Given the description of an element on the screen output the (x, y) to click on. 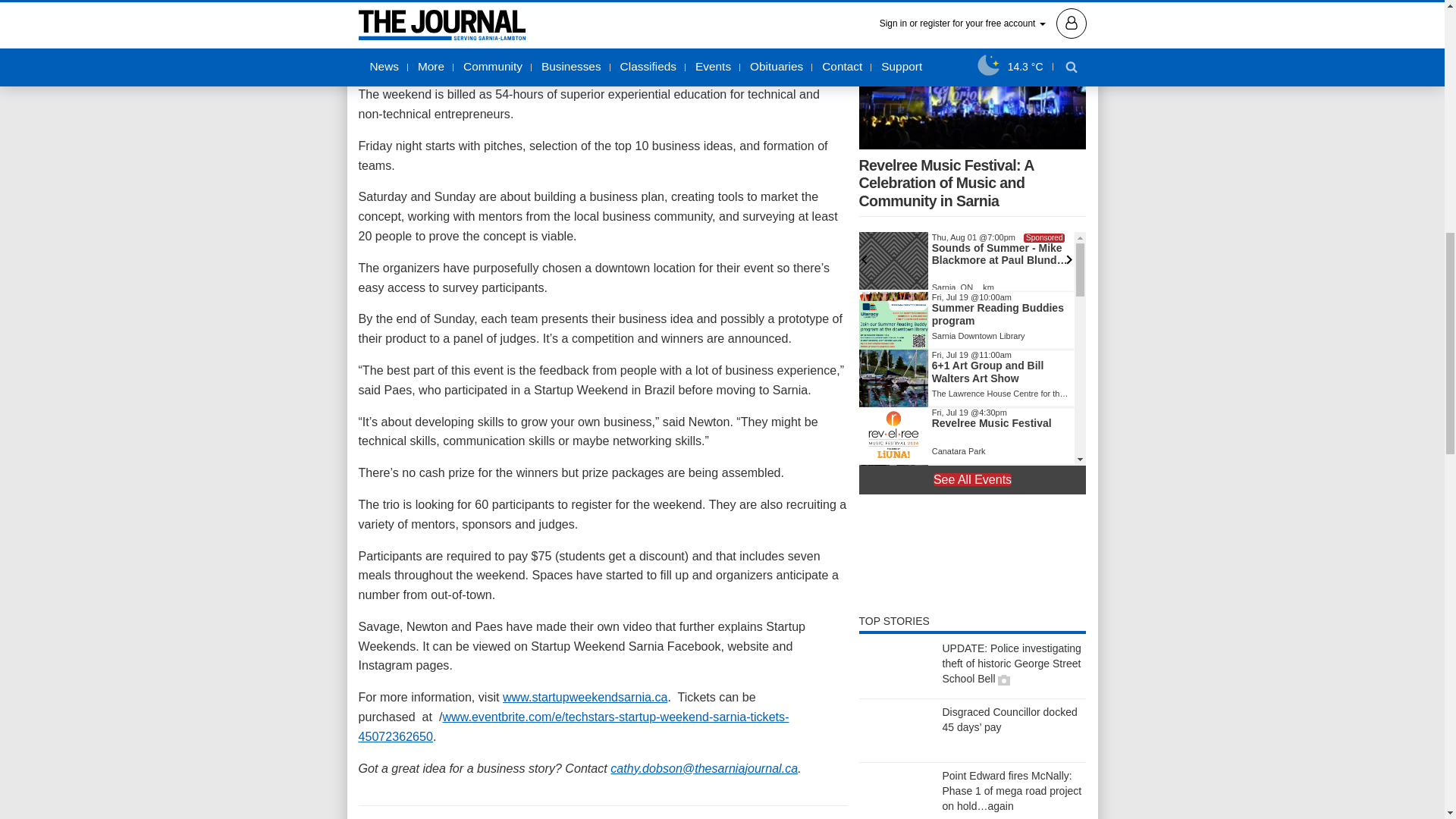
3rd party ad content (972, 554)
Has a gallery (1003, 679)
